Given the description of an element on the screen output the (x, y) to click on. 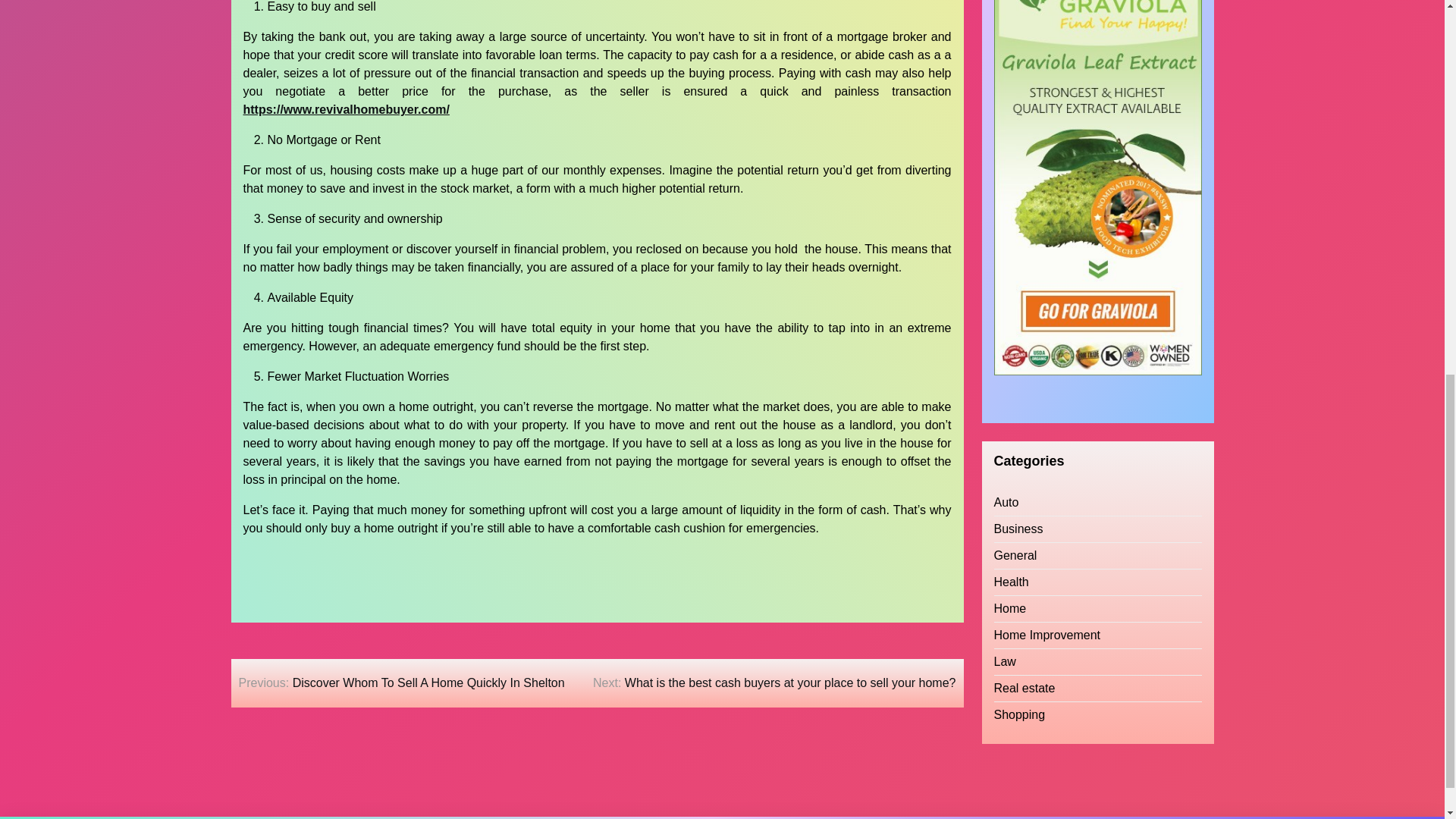
Real estate (1023, 516)
Business (1017, 357)
Home Improvement (1046, 464)
Auto (1004, 331)
Previous: Discover Whom To Sell A Home Quickly In Shelton (401, 683)
Health (1009, 411)
Home (1009, 437)
General (1014, 384)
Shopping (1018, 543)
Law (1003, 490)
